Given the description of an element on the screen output the (x, y) to click on. 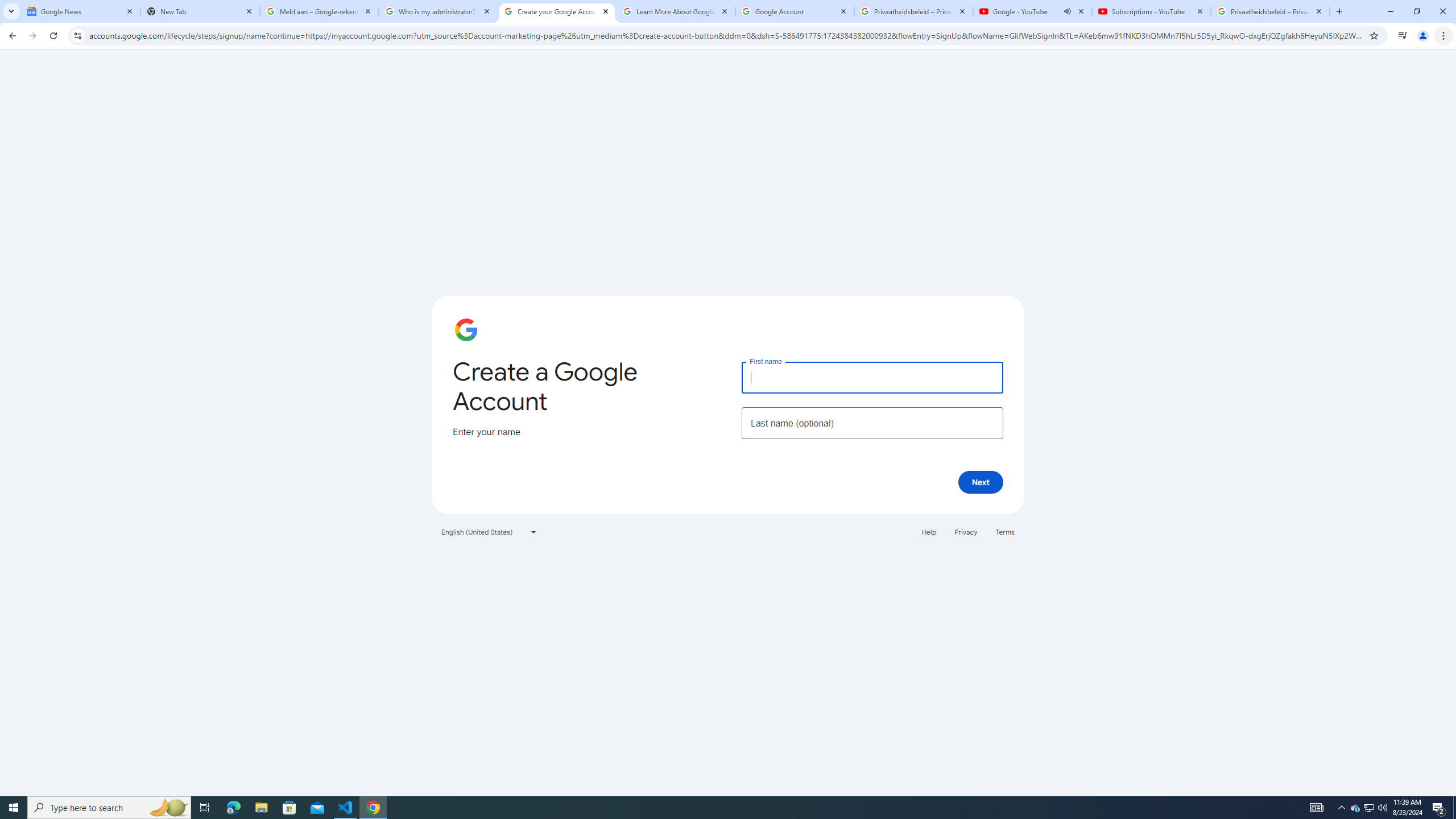
Google Account (794, 11)
Create your Google Account (556, 11)
Control your music, videos, and more (1402, 35)
Google News (80, 11)
First name (871, 376)
